Given the description of an element on the screen output the (x, y) to click on. 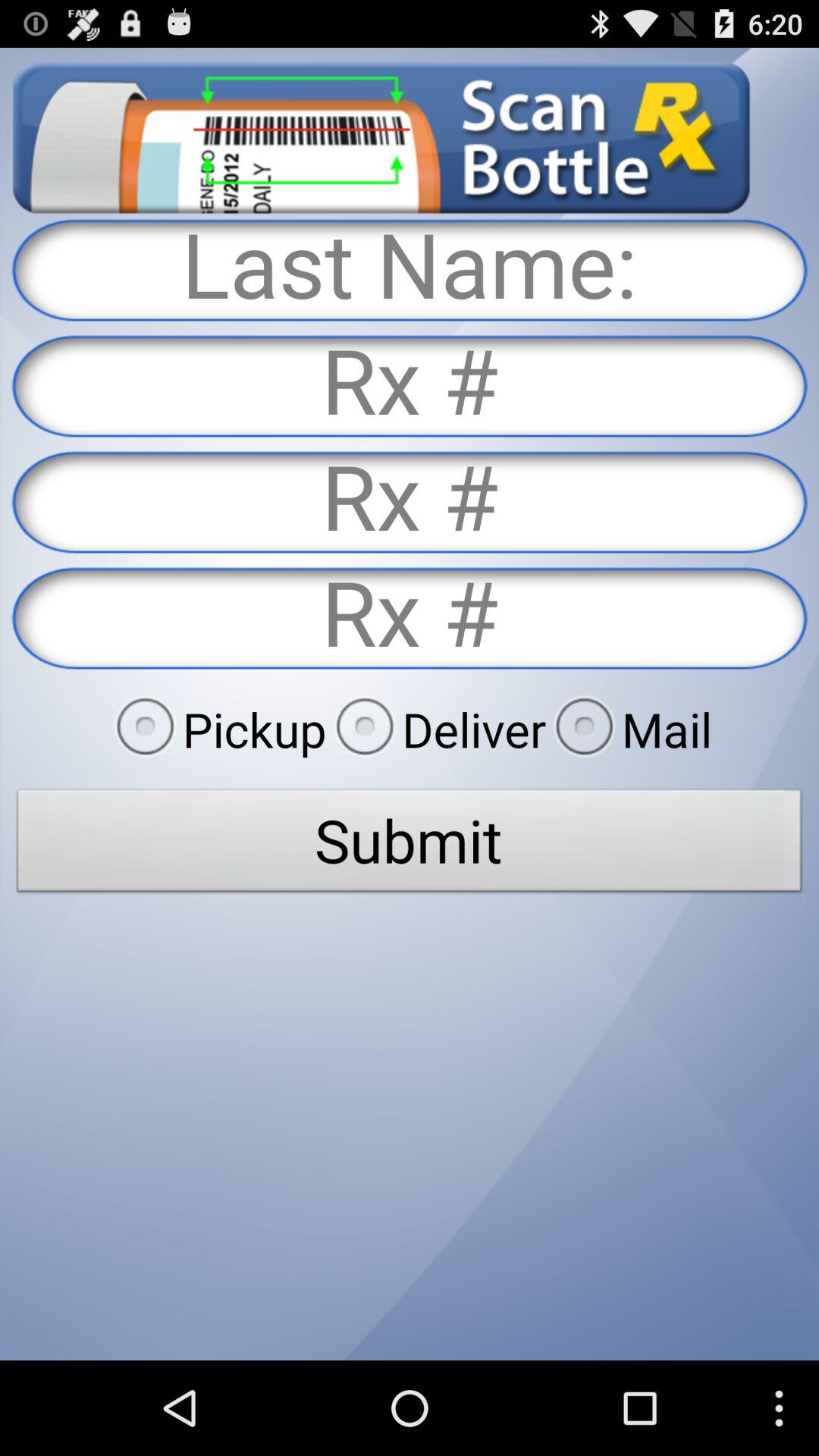
choose icon to the left of mail (436, 728)
